Given the description of an element on the screen output the (x, y) to click on. 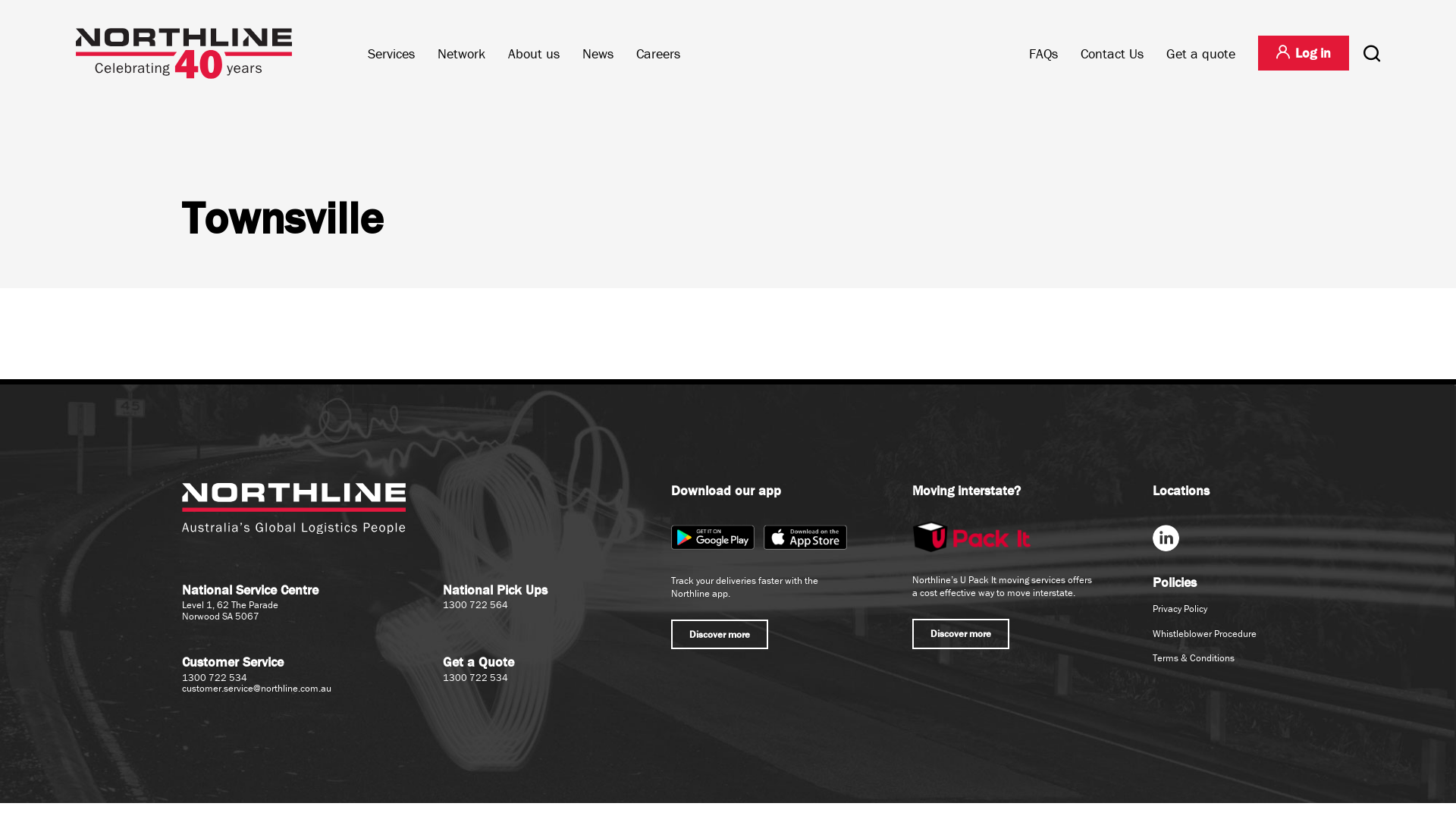
Get a quote Element type: text (1200, 52)
1300 722 534 Element type: text (475, 677)
Log in Element type: text (1303, 52)
Locations Element type: text (1180, 489)
Careers Element type: text (658, 52)
1300 722 534 Element type: text (214, 677)
About us Element type: text (533, 52)
Discover more Element type: text (719, 634)
1300 722 564 Element type: text (475, 604)
Whistleblower Procedure Element type: text (1204, 633)
Discover more Element type: text (960, 633)
Terms & Conditions Element type: text (1193, 657)
Network Element type: text (461, 52)
FAQs Element type: text (1043, 52)
Get a Quote Element type: text (478, 661)
customer.service@northline.com.au Element type: text (256, 687)
Contact Us Element type: text (1111, 52)
Privacy Policy Element type: text (1179, 608)
Services Element type: text (390, 52)
News Element type: text (597, 52)
